Given the description of an element on the screen output the (x, y) to click on. 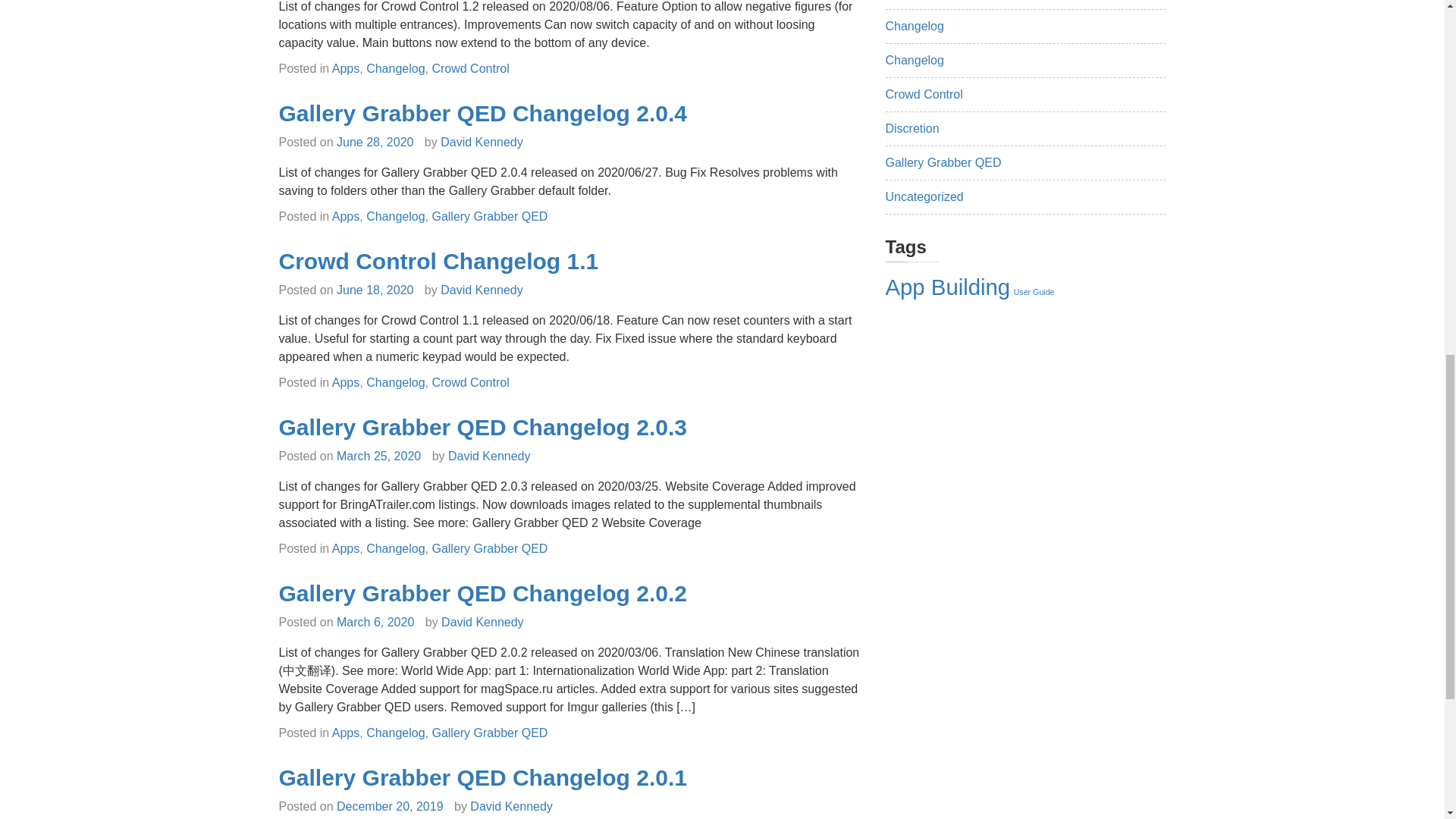
Apps (345, 68)
June 28, 2020 (374, 141)
David Kennedy (481, 141)
Apps (345, 215)
Crowd Control (469, 68)
Changelog (395, 68)
Gallery Grabber QED Changelog 2.0.4 (483, 113)
Changelog (395, 215)
